Given the description of an element on the screen output the (x, y) to click on. 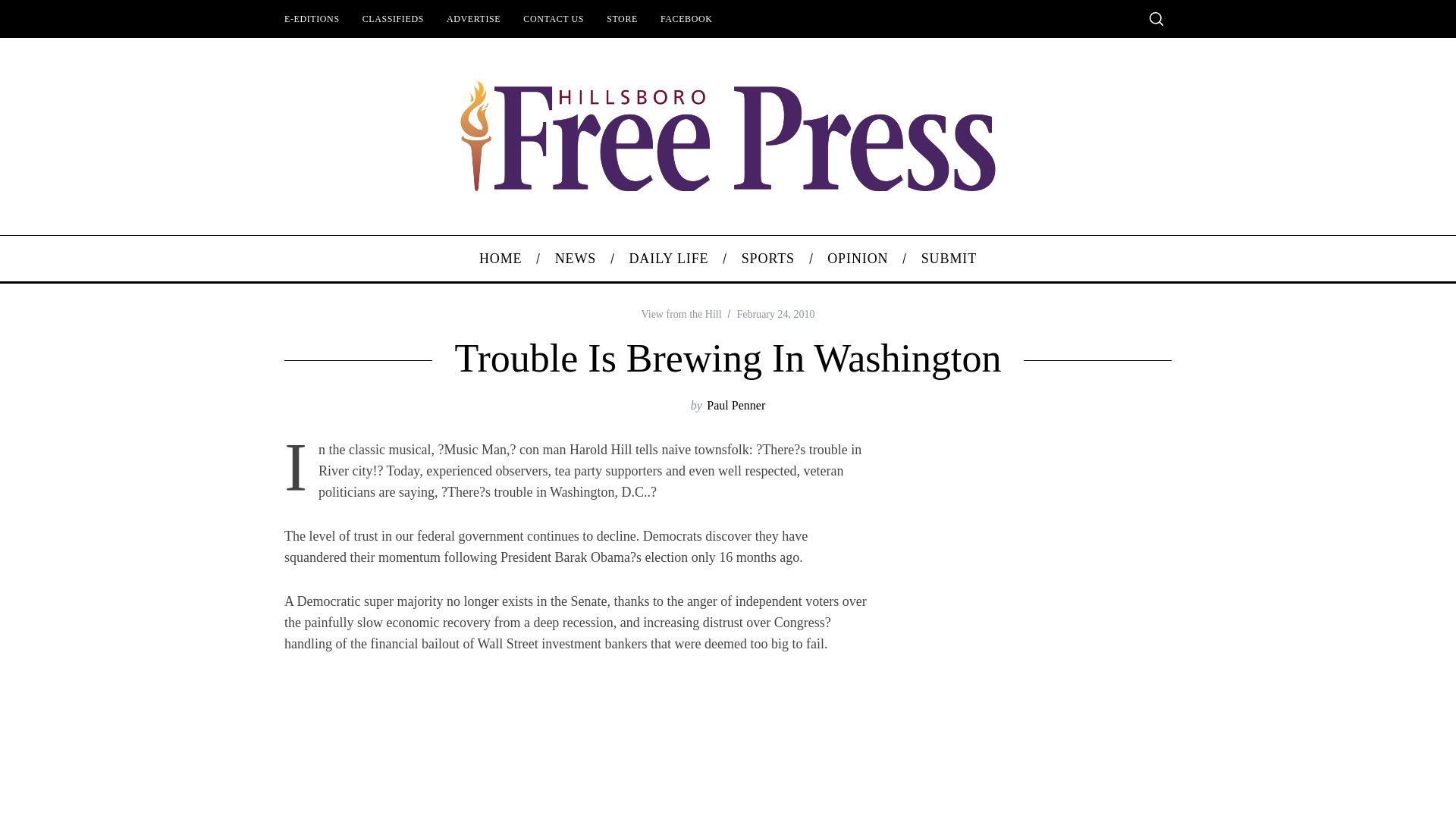
CLASSIFIEDS (392, 18)
CONTACT US (553, 18)
SPORTS (767, 258)
FACEBOOK (686, 18)
ADVERTISE (473, 18)
E-EDITIONS (311, 18)
STORE (622, 18)
OPINION (857, 258)
DAILY LIFE (668, 258)
